Given the description of an element on the screen output the (x, y) to click on. 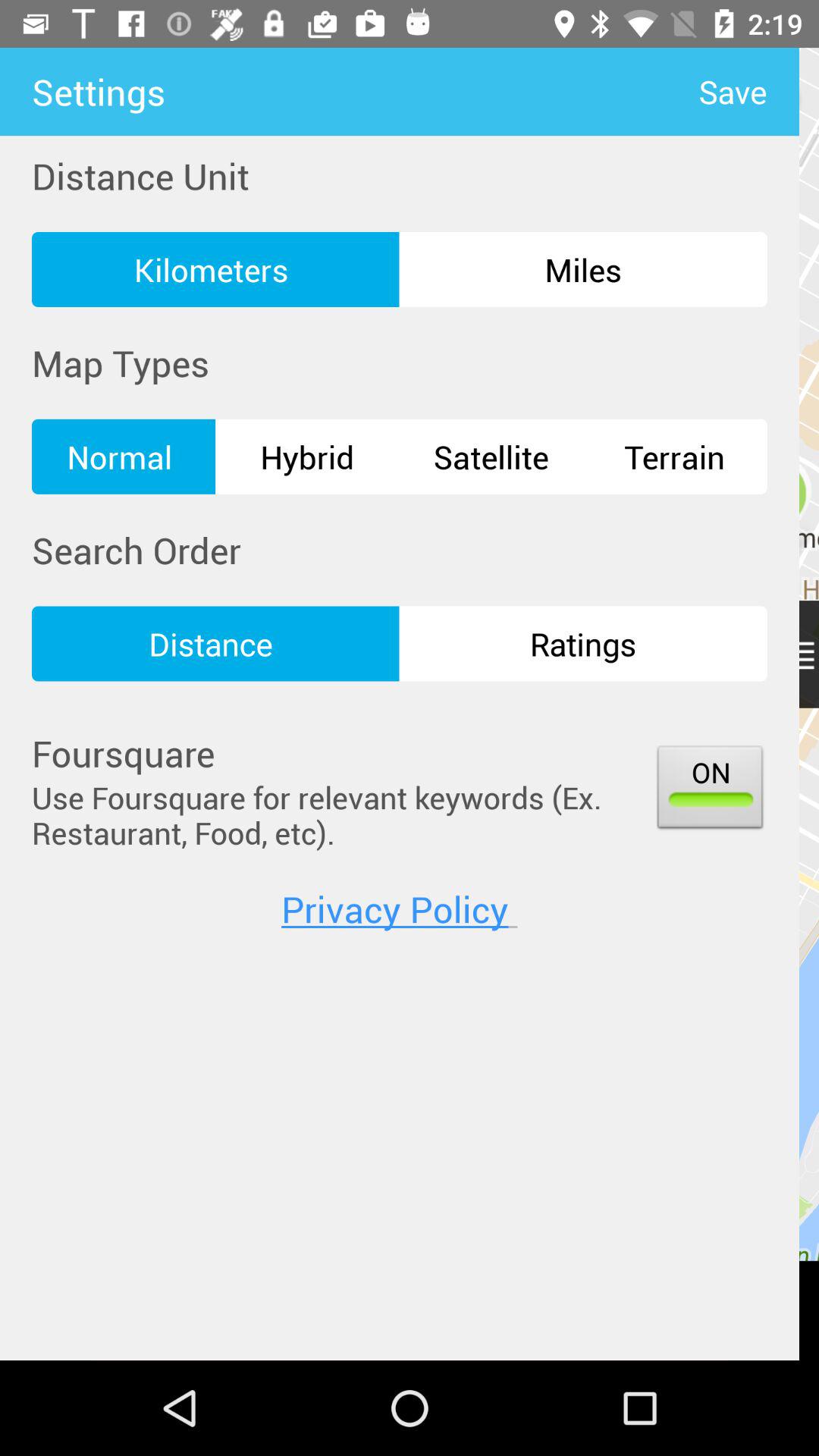
choose on icon (710, 790)
